Given the description of an element on the screen output the (x, y) to click on. 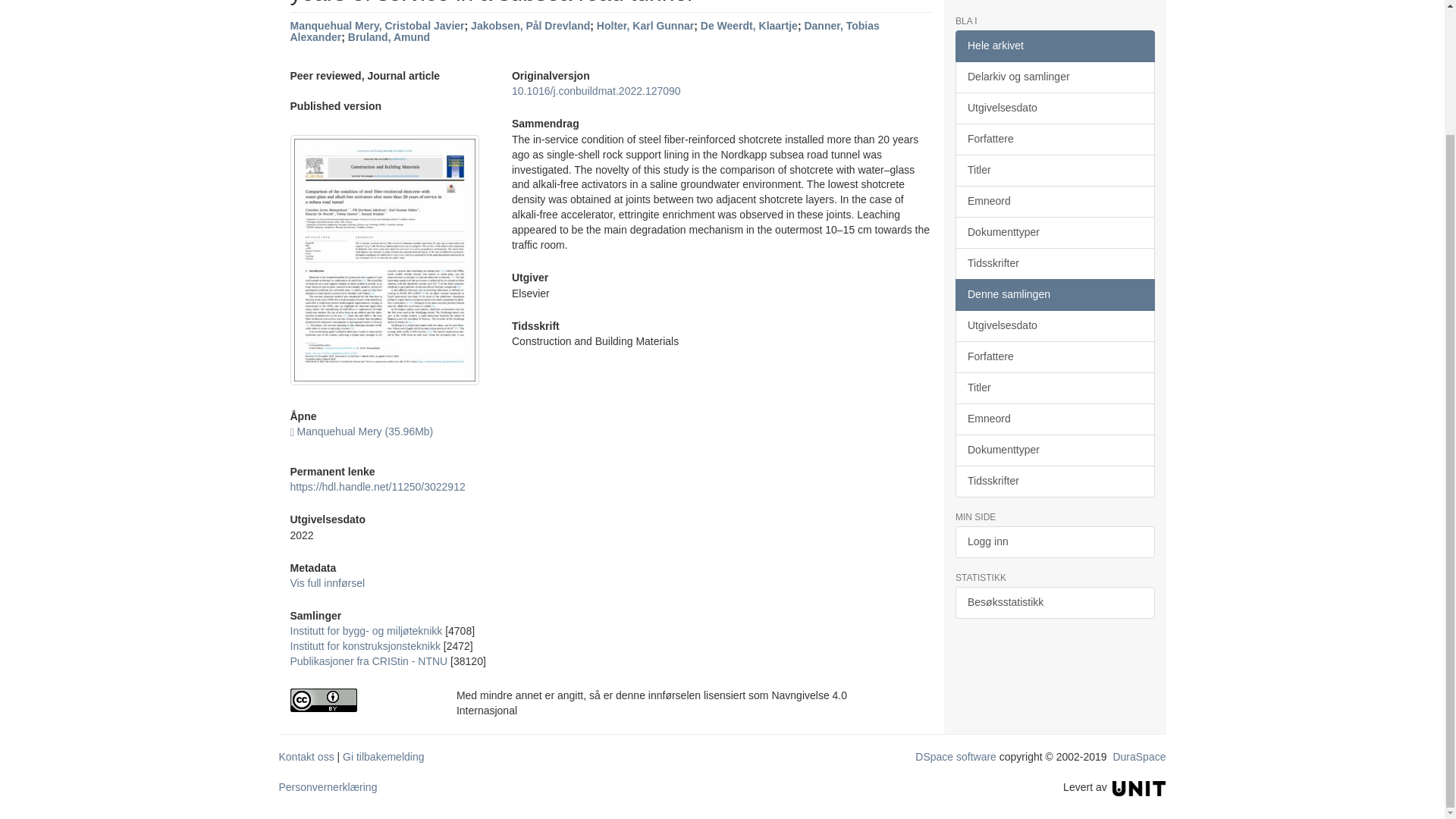
Manquehual Mery, Cristobal Javier (376, 25)
Publikasjoner fra CRIStin - NTNU (367, 661)
Institutt for konstruksjonsteknikk (364, 645)
Danner, Tobias Alexander (584, 31)
Holter, Karl Gunnar (645, 25)
Unit (1139, 787)
Navngivelse 4.0 Internasjonal (360, 699)
Bruland, Amund (388, 37)
De Weerdt, Klaartje (748, 25)
